Given the description of an element on the screen output the (x, y) to click on. 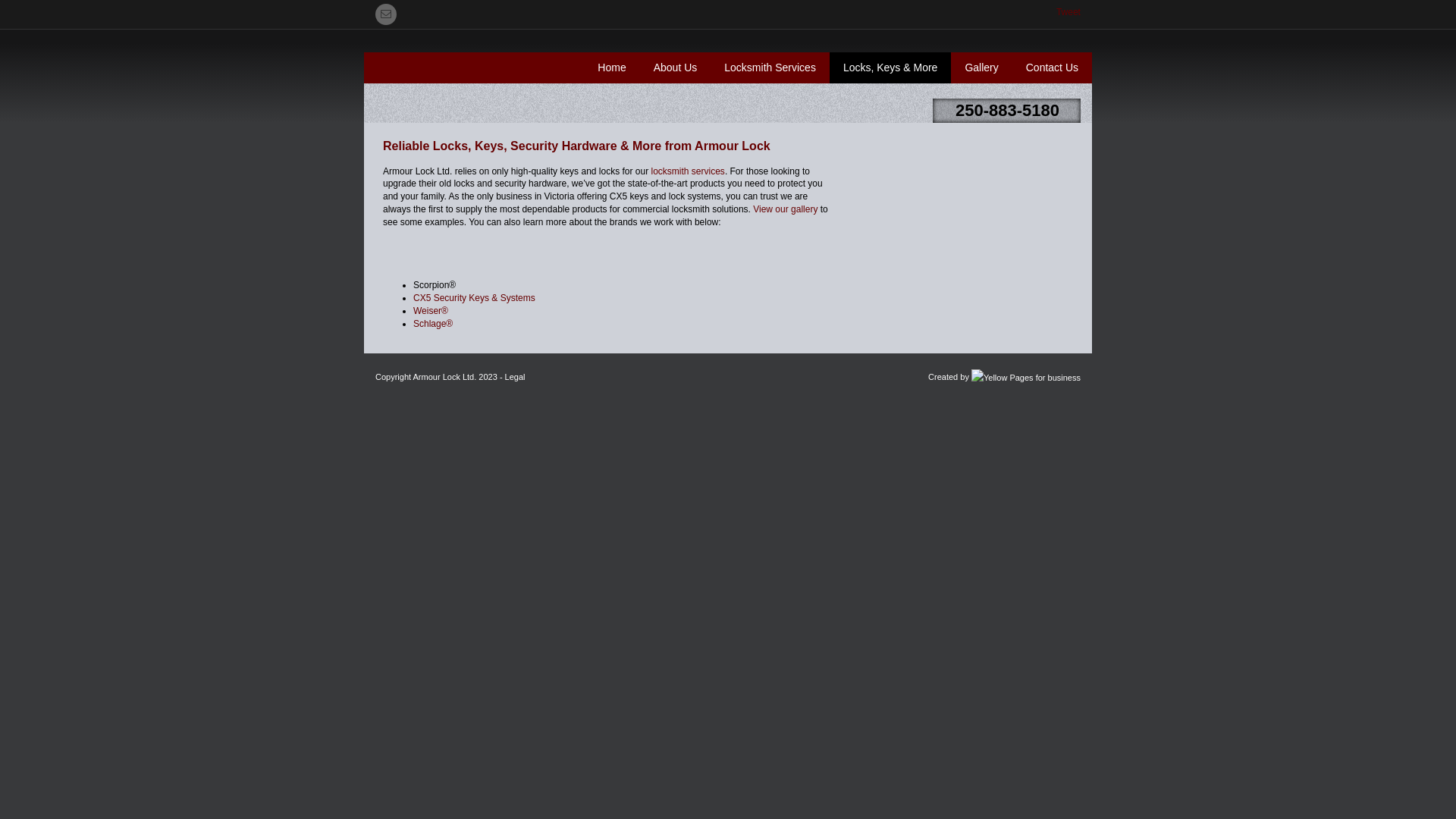
About Us Element type: text (675, 67)
Home Element type: text (611, 67)
Armour Lock Ltd. Element type: text (444, 376)
Gallery Element type: text (980, 67)
Go to Home page Element type: hover (436, 104)
CX5 Security Keys & Systems Element type: text (474, 297)
Locks, Keys & More Element type: text (890, 67)
Tweet Element type: text (1068, 11)
locksmith services Element type: text (687, 171)
250-883-5180 Element type: text (1007, 109)
Contact Us Element type: text (1052, 67)
View our gallery Element type: text (785, 208)
Locksmith Services Element type: text (769, 67)
Go to Home page Element type: hover (364, 89)
Legal Element type: text (515, 376)
